Given the description of an element on the screen output the (x, y) to click on. 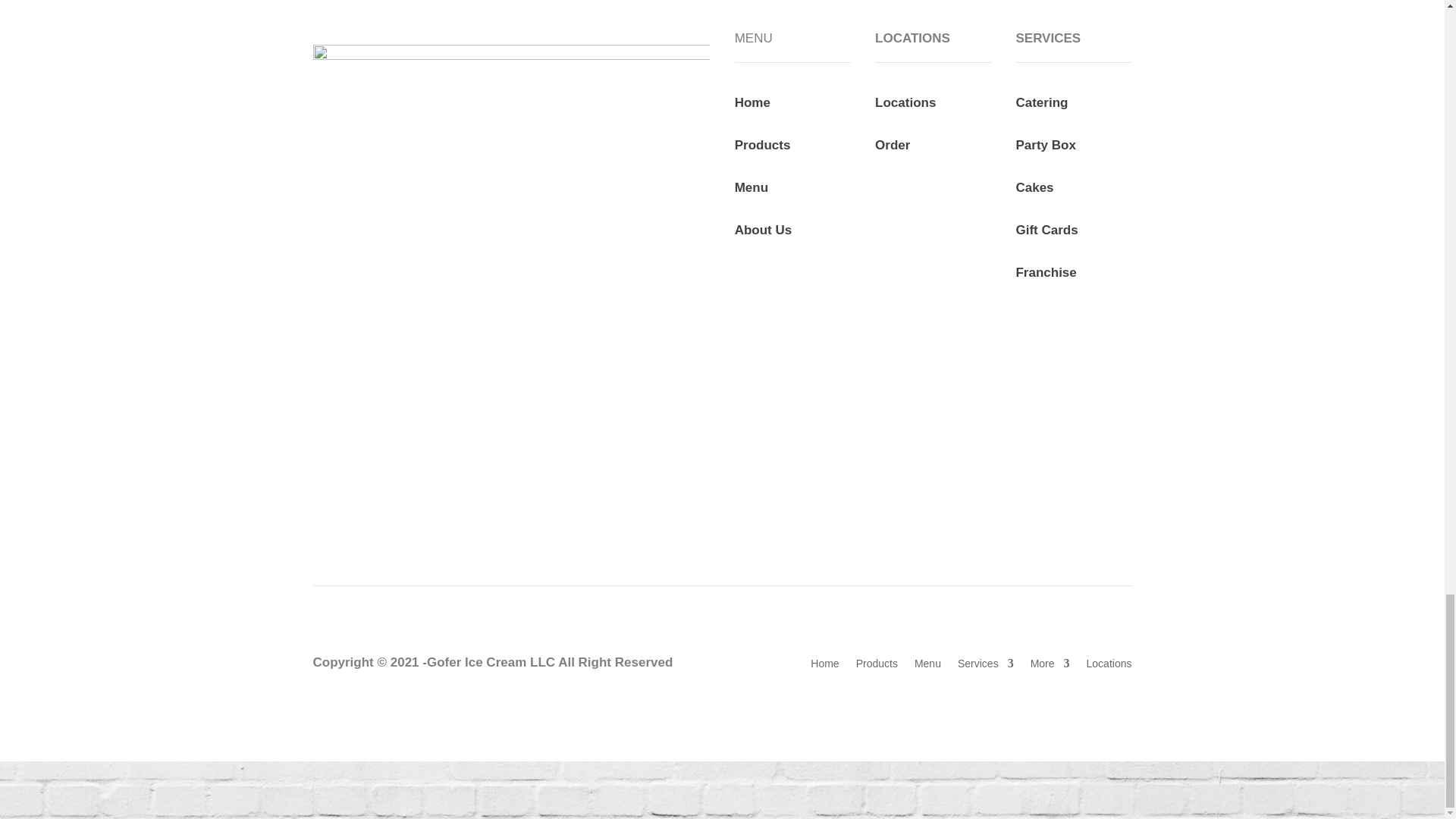
Products (762, 145)
Franchise (1044, 272)
Cakes (1033, 187)
Gift Cards (1045, 229)
Home (752, 102)
Order (892, 145)
Party Box  (1046, 145)
Locations (905, 102)
Menu (751, 187)
